Given the description of an element on the screen output the (x, y) to click on. 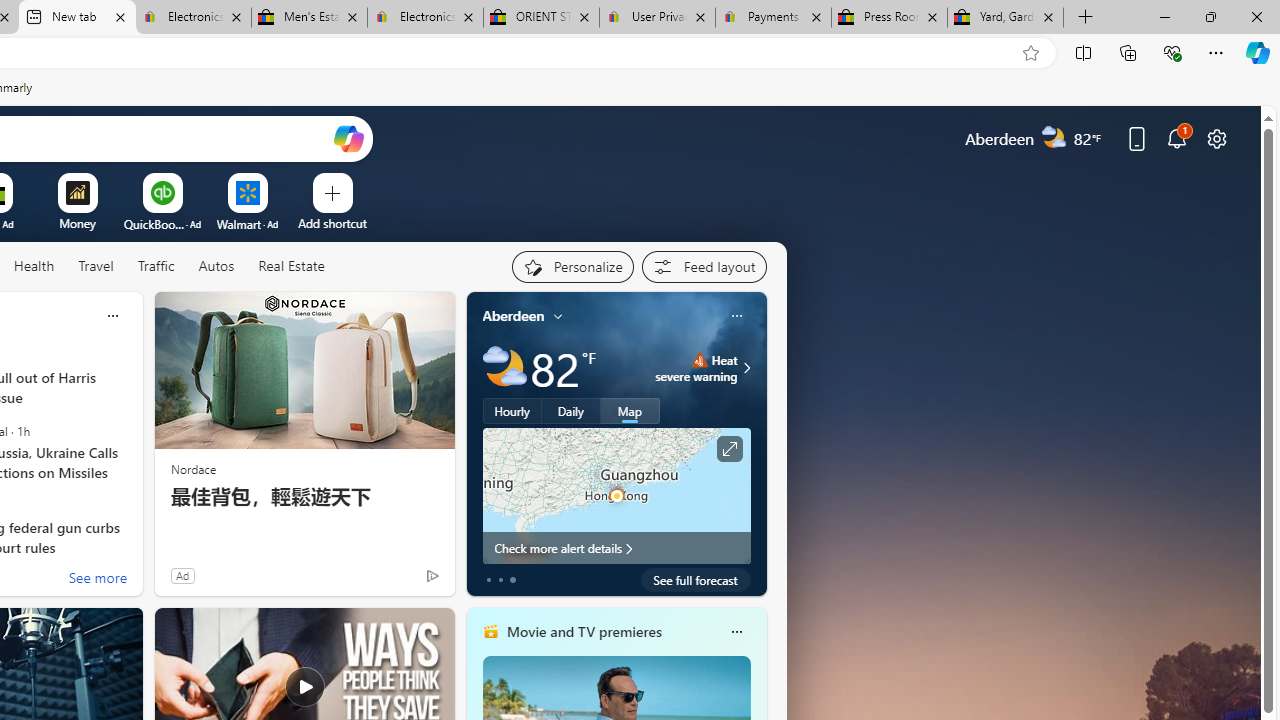
User Privacy Notice | eBay (657, 17)
tab-2 (511, 579)
Nordace (193, 468)
Movie and TV premieres (583, 631)
See full forecast (695, 579)
Payments Terms of Use | eBay.com (772, 17)
